Given the description of an element on the screen output the (x, y) to click on. 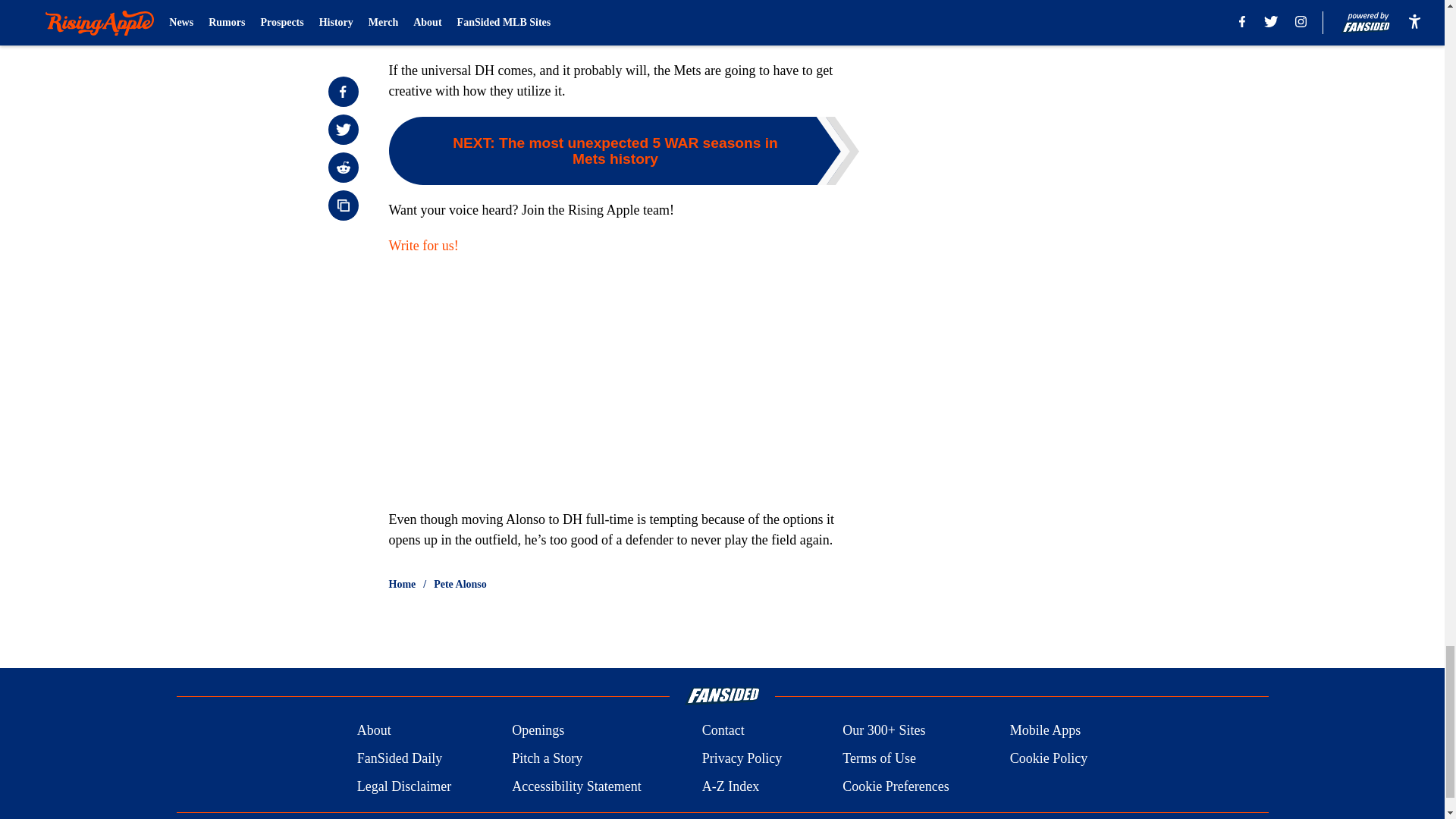
Contact (722, 730)
Mobile Apps (1045, 730)
NEXT: The most unexpected 5 WAR seasons in Mets history (623, 151)
Privacy Policy (742, 758)
Home (401, 584)
Pete Alonso (459, 584)
Openings (538, 730)
Cookie Policy (1048, 758)
FanSided Daily (399, 758)
About (373, 730)
Terms of Use (879, 758)
Write for us! (423, 245)
Pitch a Story (547, 758)
